Given the description of an element on the screen output the (x, y) to click on. 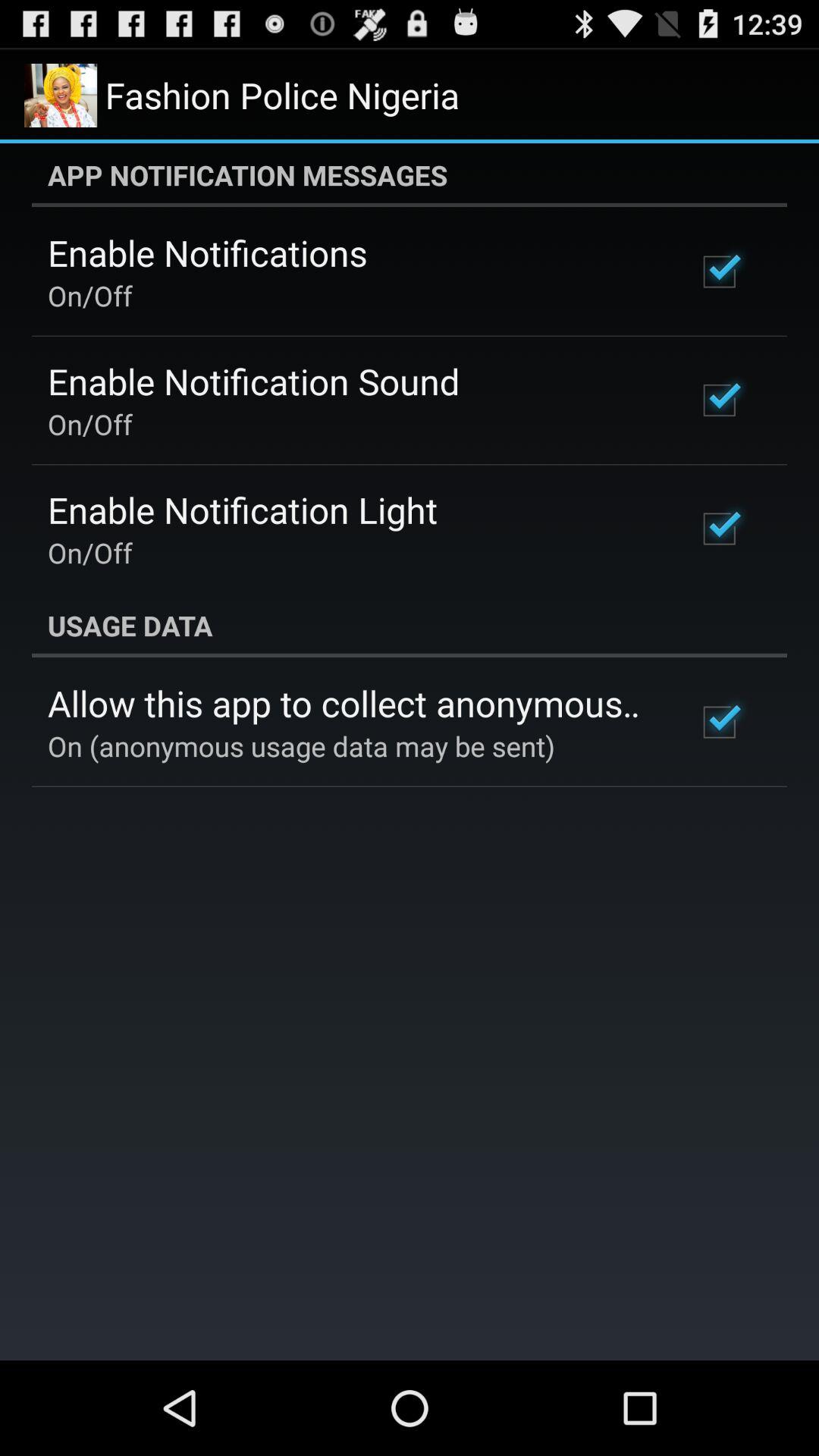
choose the app notification messages (409, 175)
